Given the description of an element on the screen output the (x, y) to click on. 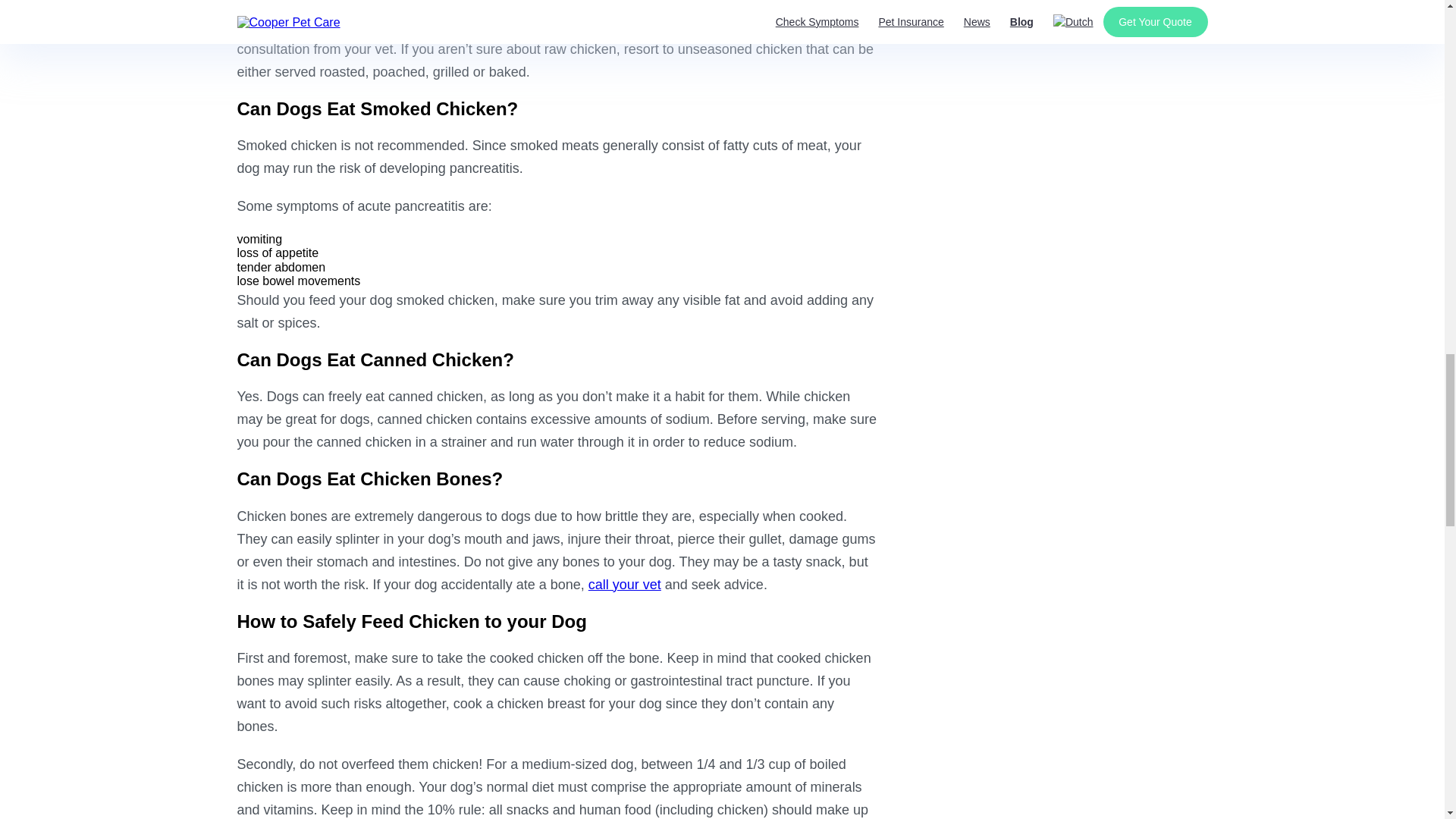
Giving raw chicken to your dog (329, 5)
raw food diet for your dog (489, 26)
cats (311, 26)
